Given the description of an element on the screen output the (x, y) to click on. 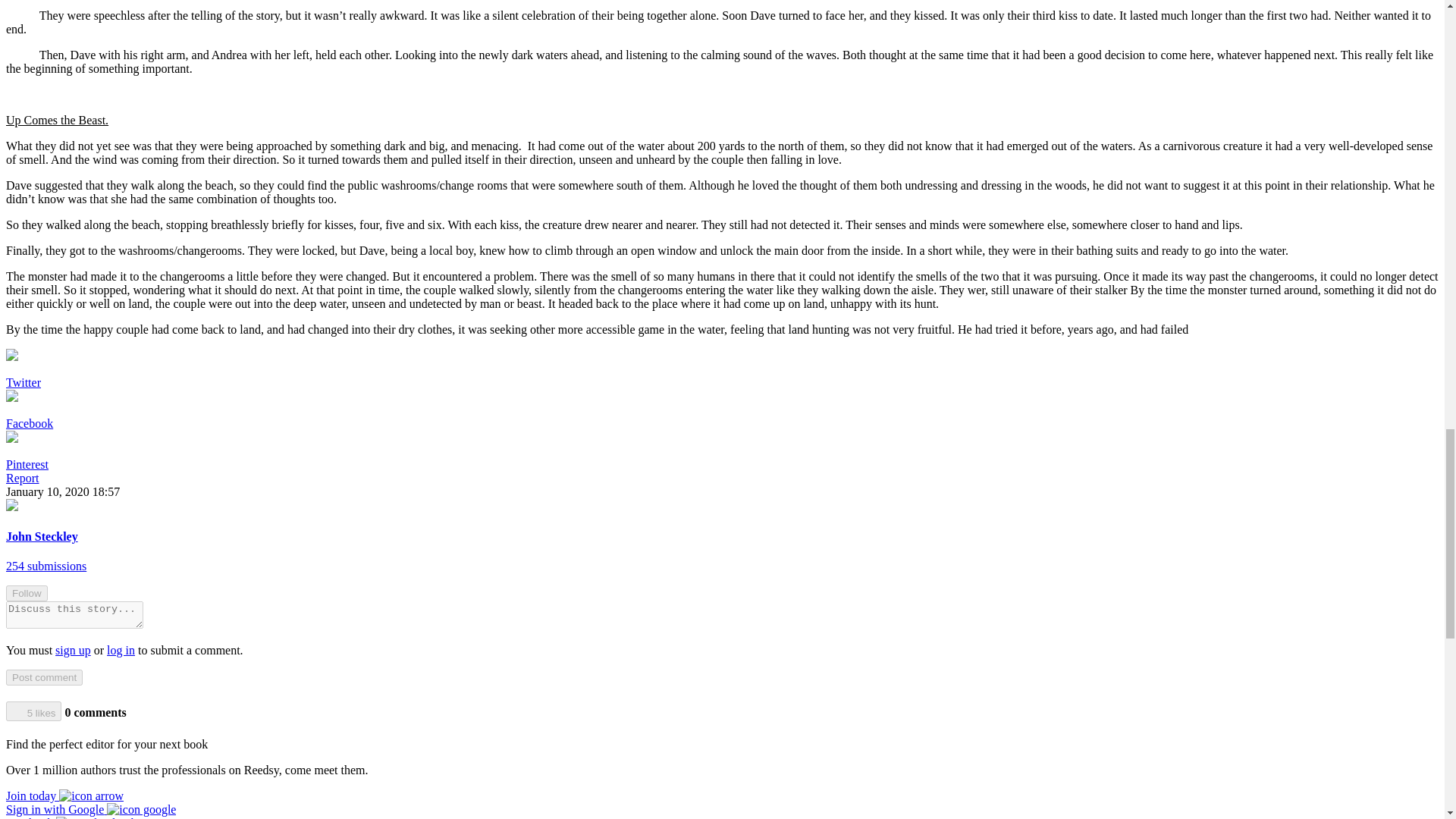
Sign in with Google (90, 809)
Sign up (64, 795)
Post comment (43, 677)
Sign in with Facebook (70, 817)
